Given the description of an element on the screen output the (x, y) to click on. 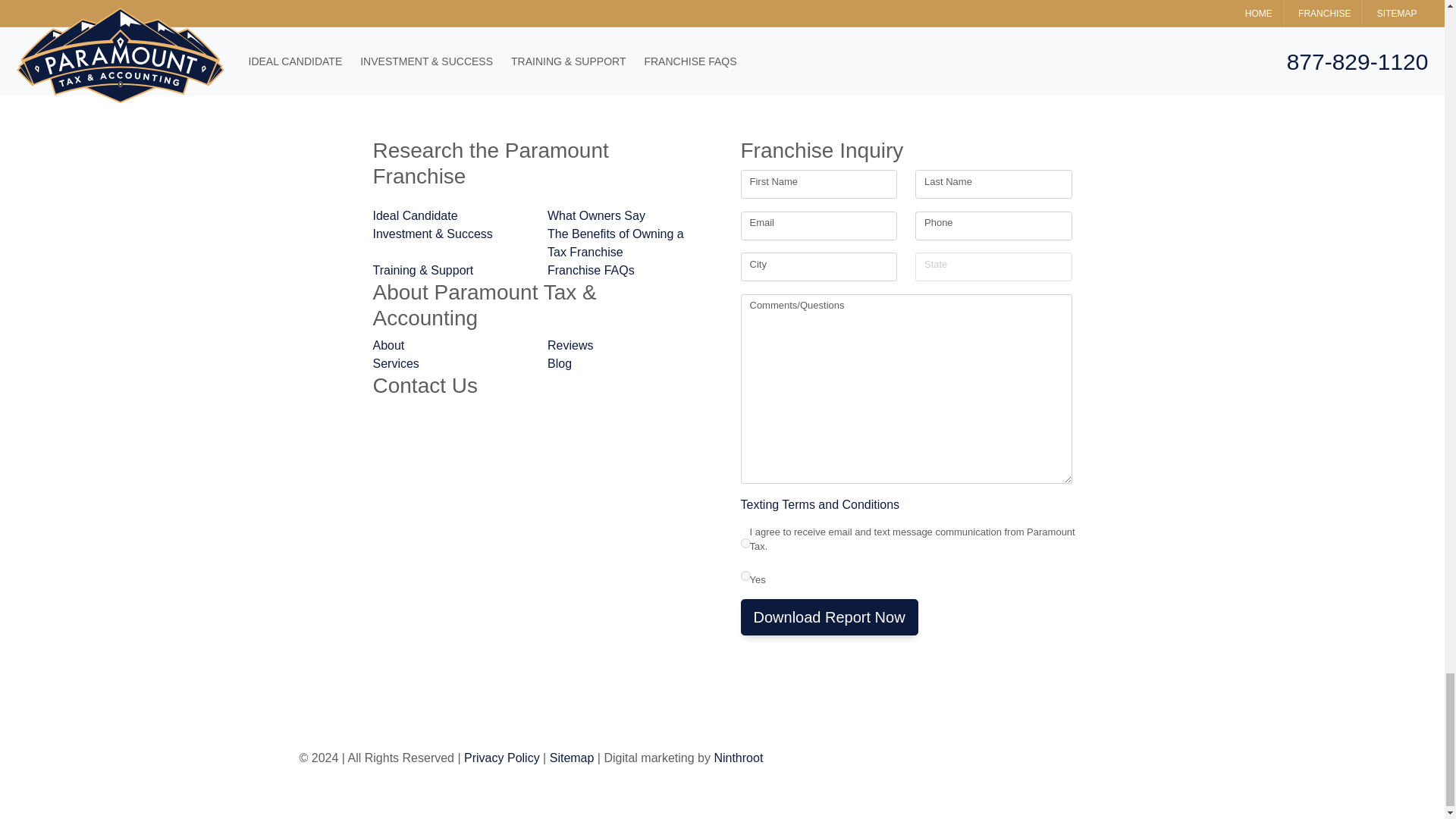
Franchise FAQs (625, 270)
Services (451, 363)
City (817, 266)
Email (817, 225)
The Benefits of Owning a Tax Franchise (625, 243)
First Name (817, 184)
Phone (993, 225)
State (993, 266)
What Owners Say (625, 216)
Ideal Candidate (451, 216)
no (744, 575)
Reviews (625, 345)
Last Name (993, 184)
Blog (625, 363)
About (451, 345)
